Given the description of an element on the screen output the (x, y) to click on. 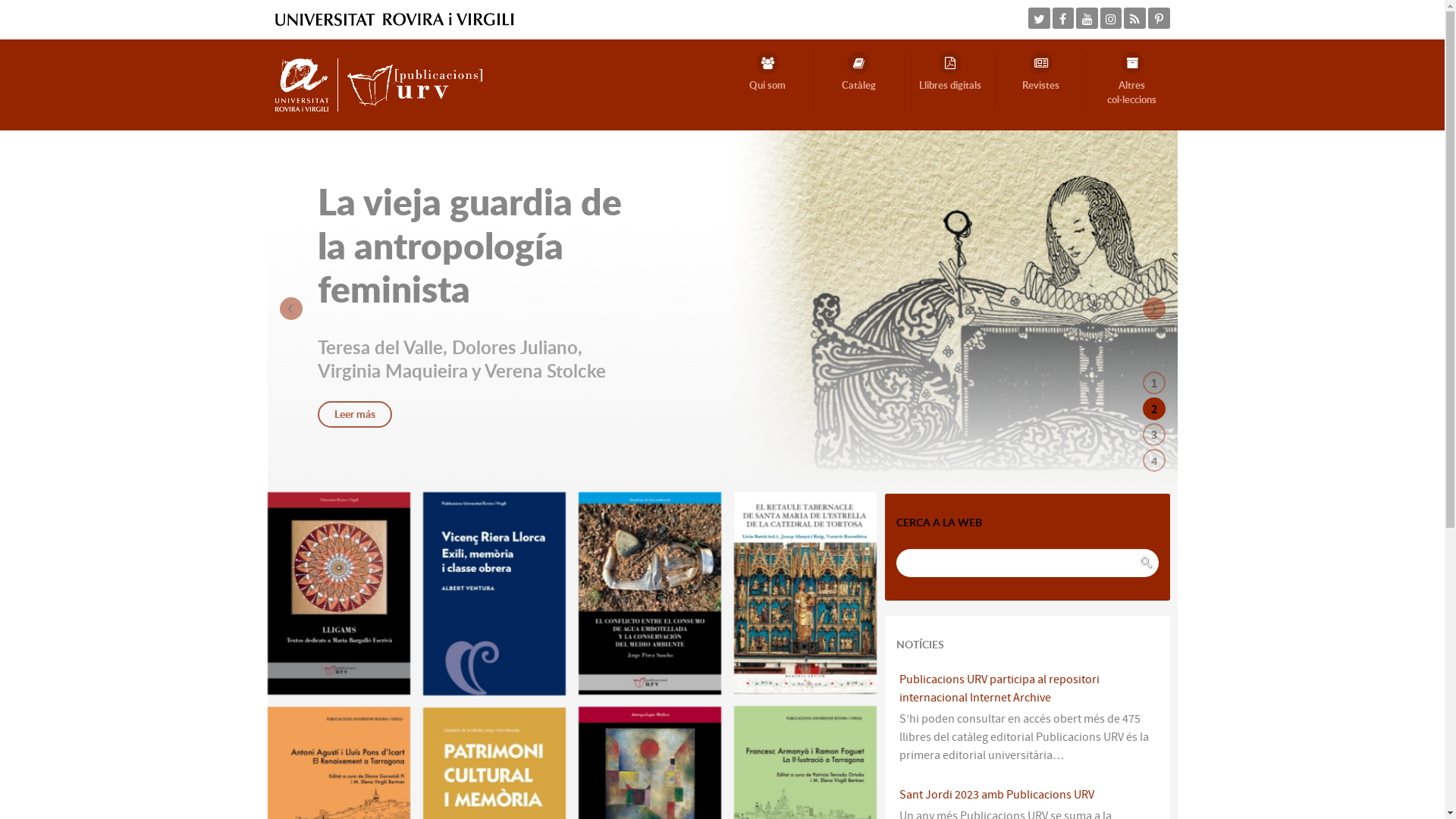
Llibres digitals Element type: text (949, 80)
Universitat Rovira i Virgili Element type: hover (393, 18)
Publicacions URV Element type: hover (377, 84)
Qui som Element type: text (766, 80)
Sant Jordi 2023 amb Publicacions URV Element type: text (996, 794)
Revistes Element type: text (1040, 80)
